Given the description of an element on the screen output the (x, y) to click on. 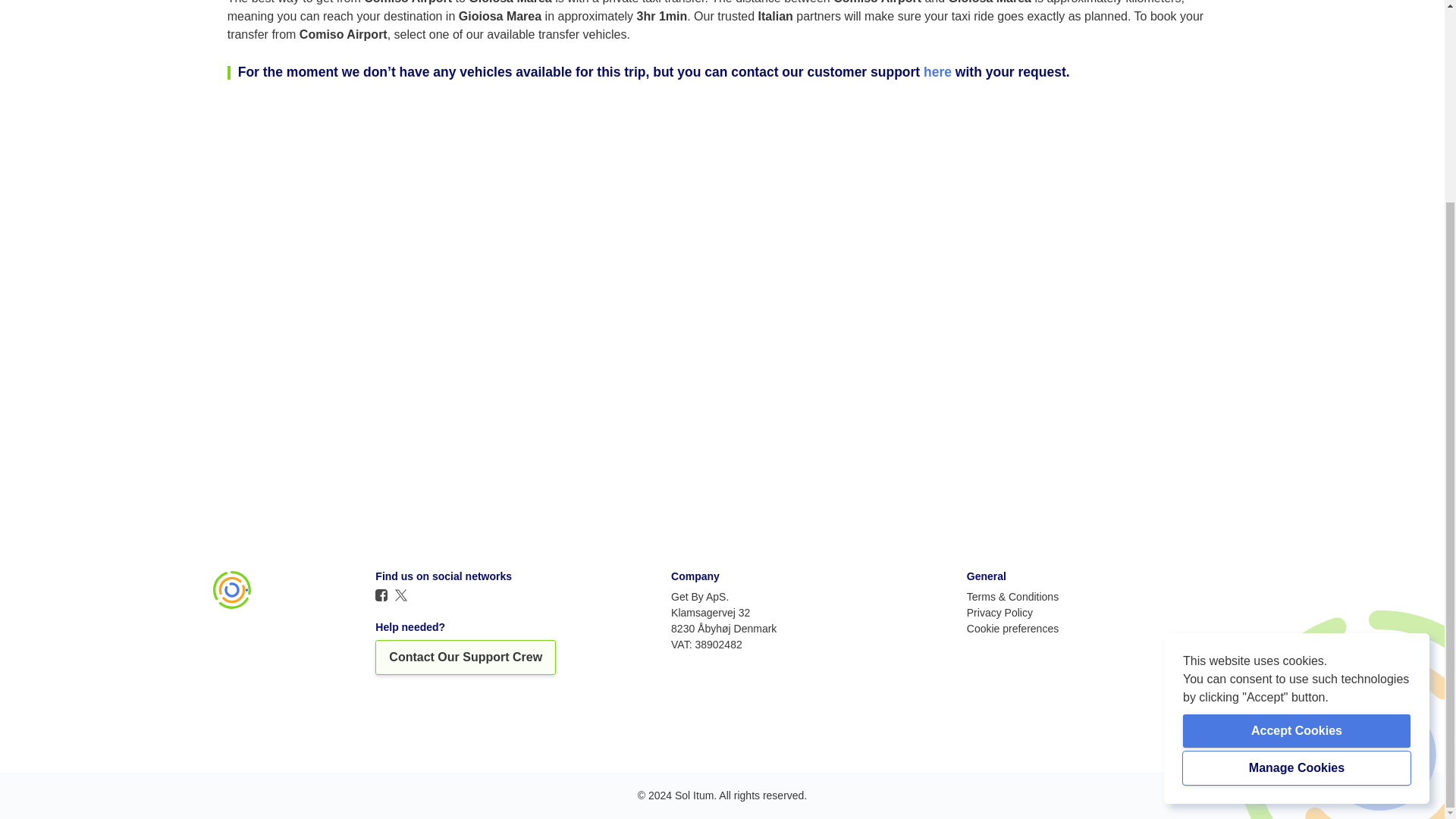
Privacy Policy (999, 612)
here (939, 71)
Manage Cookies (1296, 509)
Cookie preferences (1012, 628)
Accept Cookies (1296, 471)
Contact Our Support Crew (465, 656)
